Given the description of an element on the screen output the (x, y) to click on. 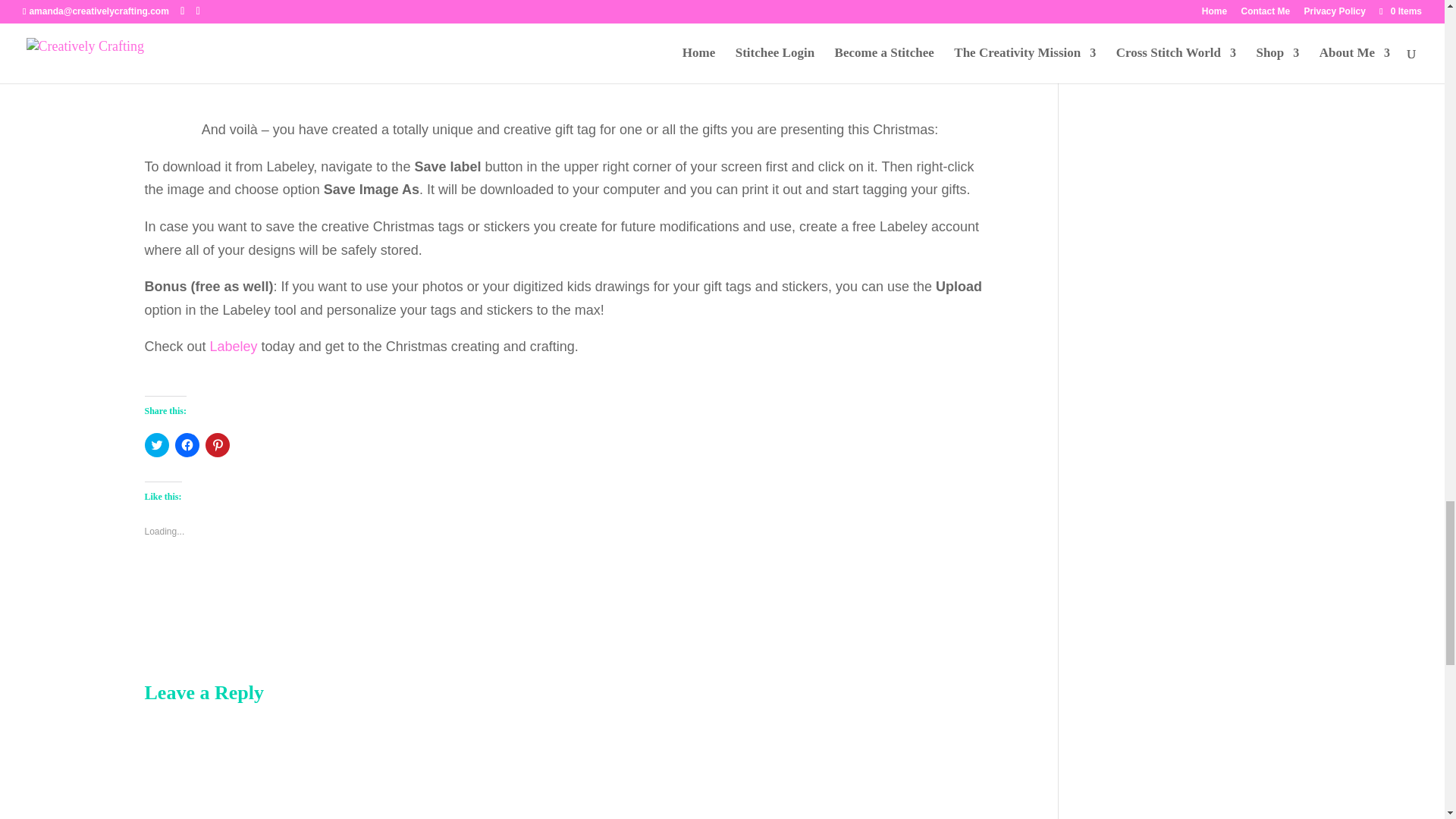
Click to share on Facebook (186, 445)
Click to share on Pinterest (216, 445)
Comment Form (569, 764)
Click to share on Twitter (156, 445)
